Given the description of an element on the screen output the (x, y) to click on. 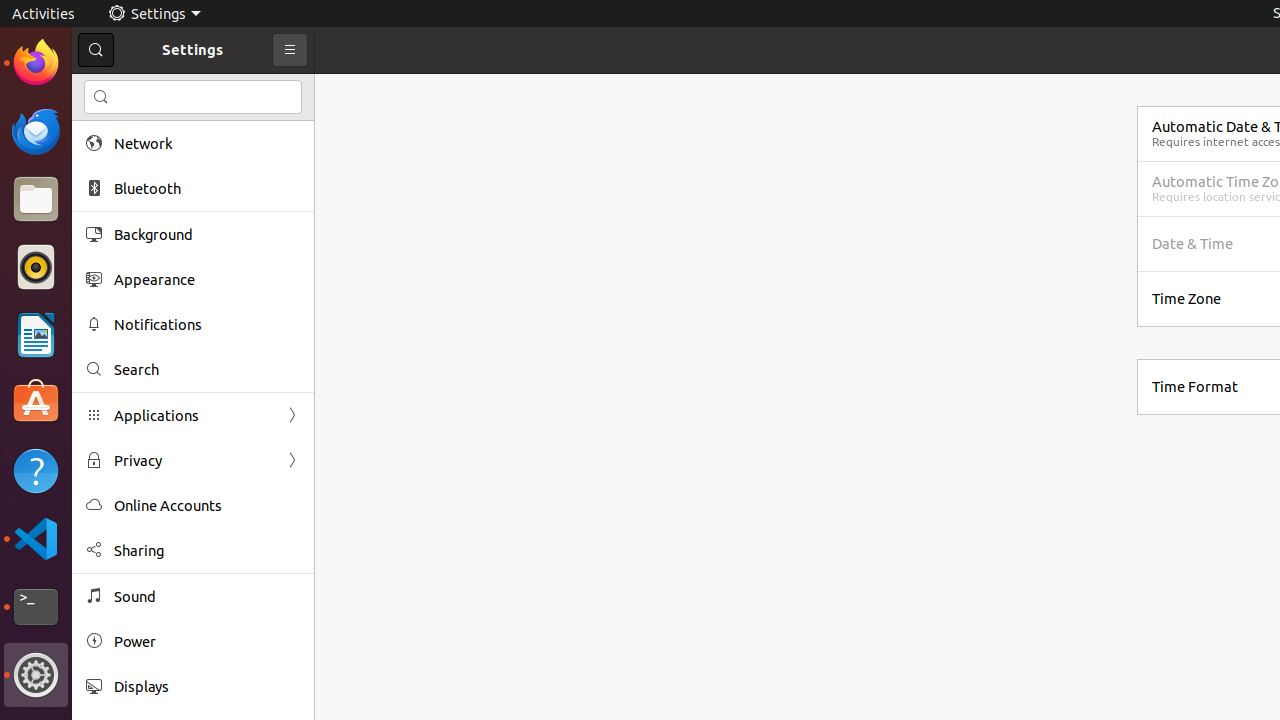
Online Accounts Element type: label (207, 505)
Power Element type: label (207, 641)
Settings Element type: menu (154, 13)
Terminal Element type: push-button (36, 607)
Bluetooth Element type: label (207, 188)
